Given the description of an element on the screen output the (x, y) to click on. 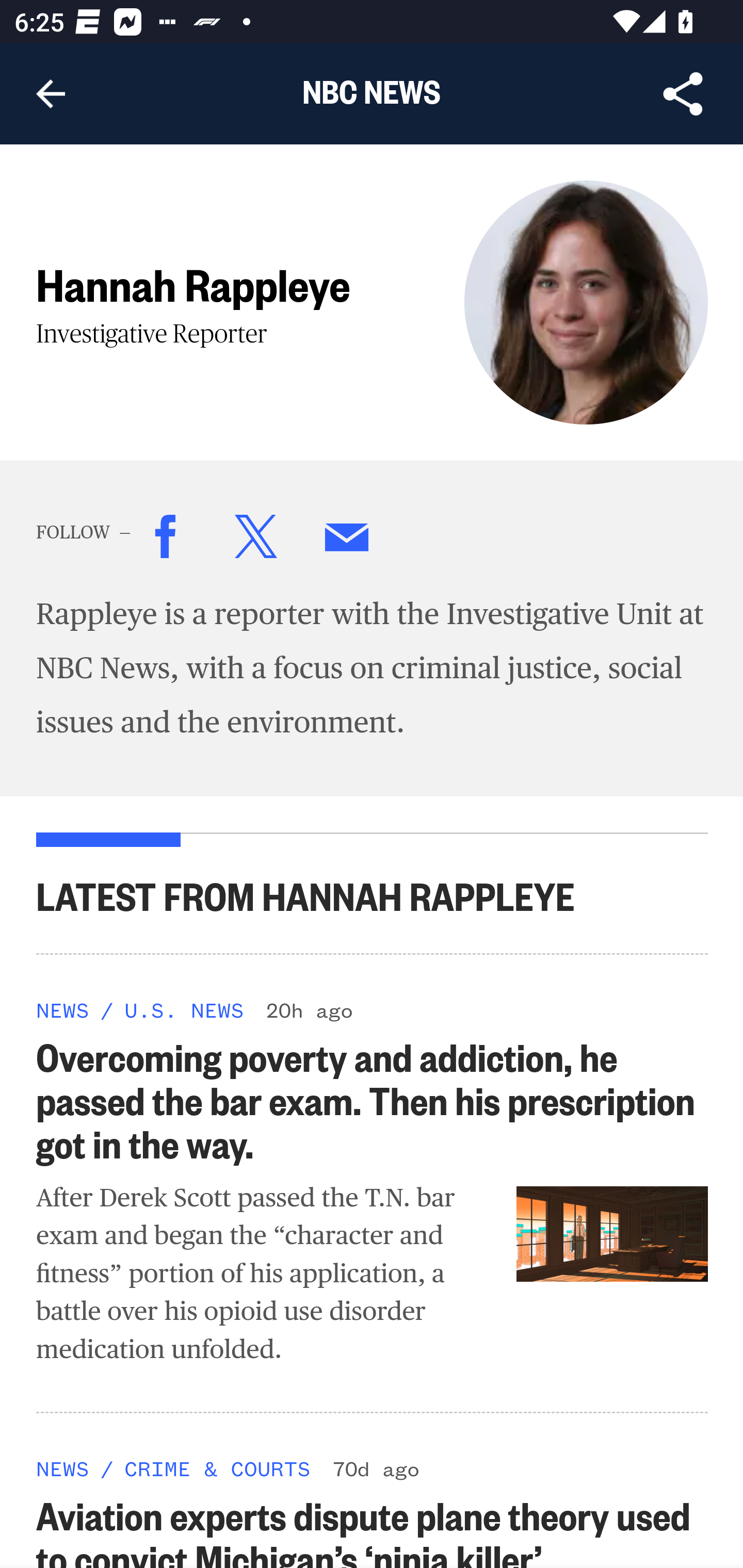
Navigate up (50, 93)
Share Article, button (683, 94)
 (166, 540)
 (255, 540)
 (347, 540)
NEWS NEWS NEWS (63, 1009)
U.S. NEWS U.S. NEWS U.S. NEWS (183, 1009)
NEWS NEWS NEWS (63, 1467)
CRIME & COURTS CRIME & COURTS CRIME & COURTS (217, 1467)
